Given the description of an element on the screen output the (x, y) to click on. 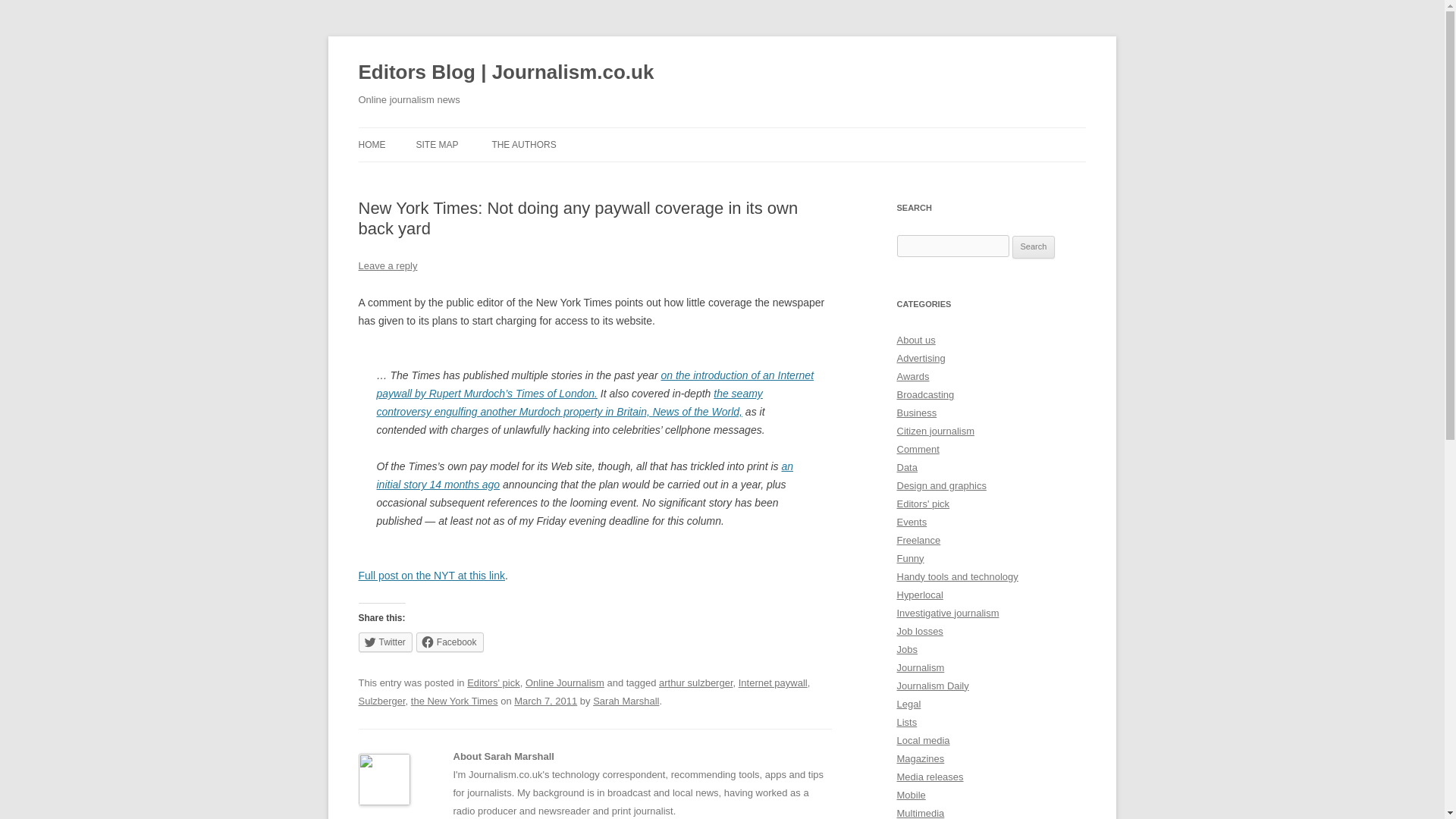
About us (915, 339)
Business (916, 412)
Sarah Marshall (625, 700)
Leave a reply (387, 265)
THE AUTHORS (524, 144)
Design and graphics (940, 485)
Comment (917, 449)
nytimes.com (431, 575)
an initial story 14 months ago (584, 475)
Internet paywall (773, 682)
March 7, 2011 (544, 700)
Events (911, 521)
Twitter (385, 641)
4:41 pm (544, 700)
